Given the description of an element on the screen output the (x, y) to click on. 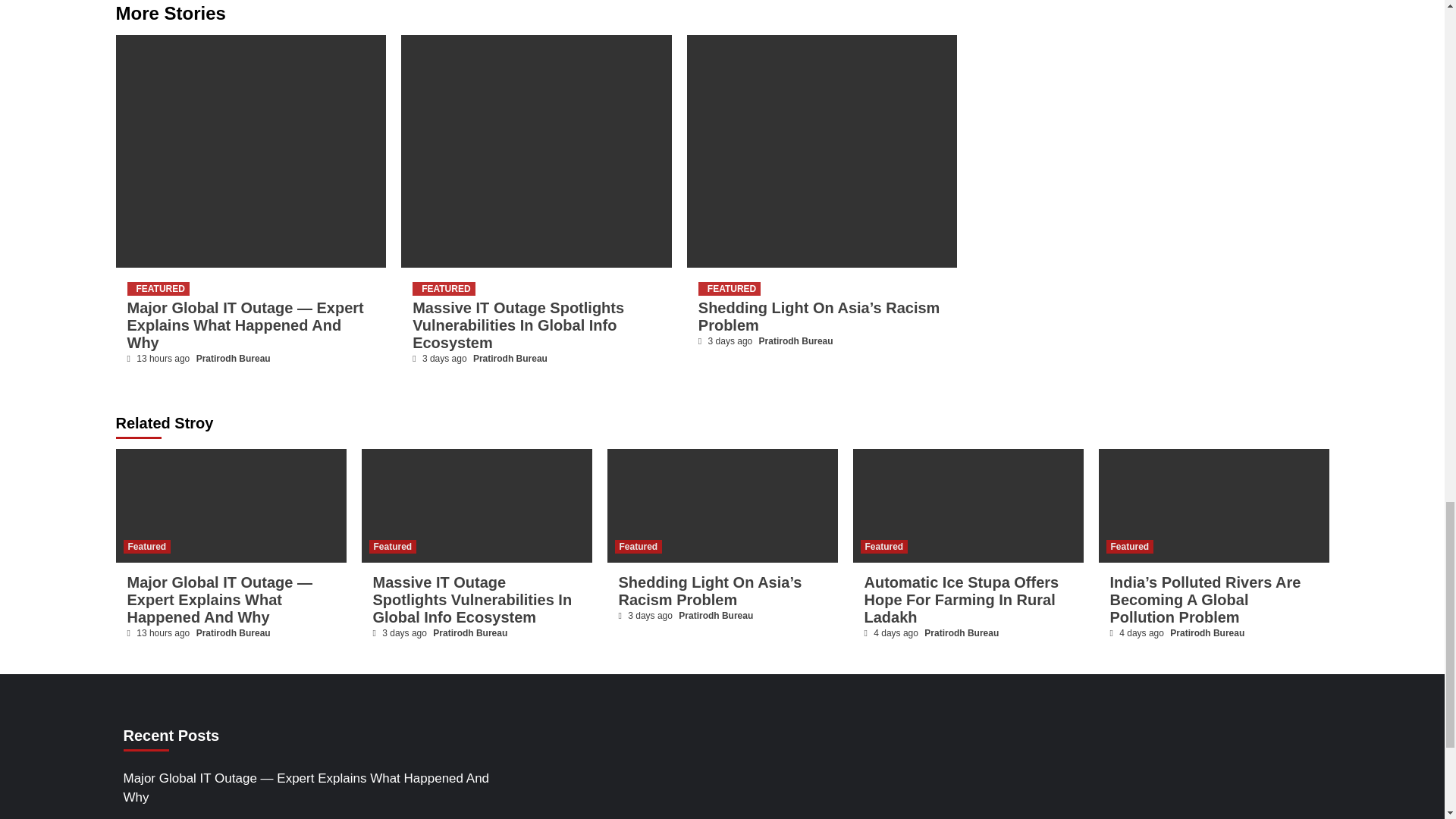
Pratirodh Bureau (795, 340)
Pratirodh Bureau (510, 357)
FEATURED (158, 288)
FEATURED (729, 288)
FEATURED (443, 288)
Pratirodh Bureau (233, 357)
